Given the description of an element on the screen output the (x, y) to click on. 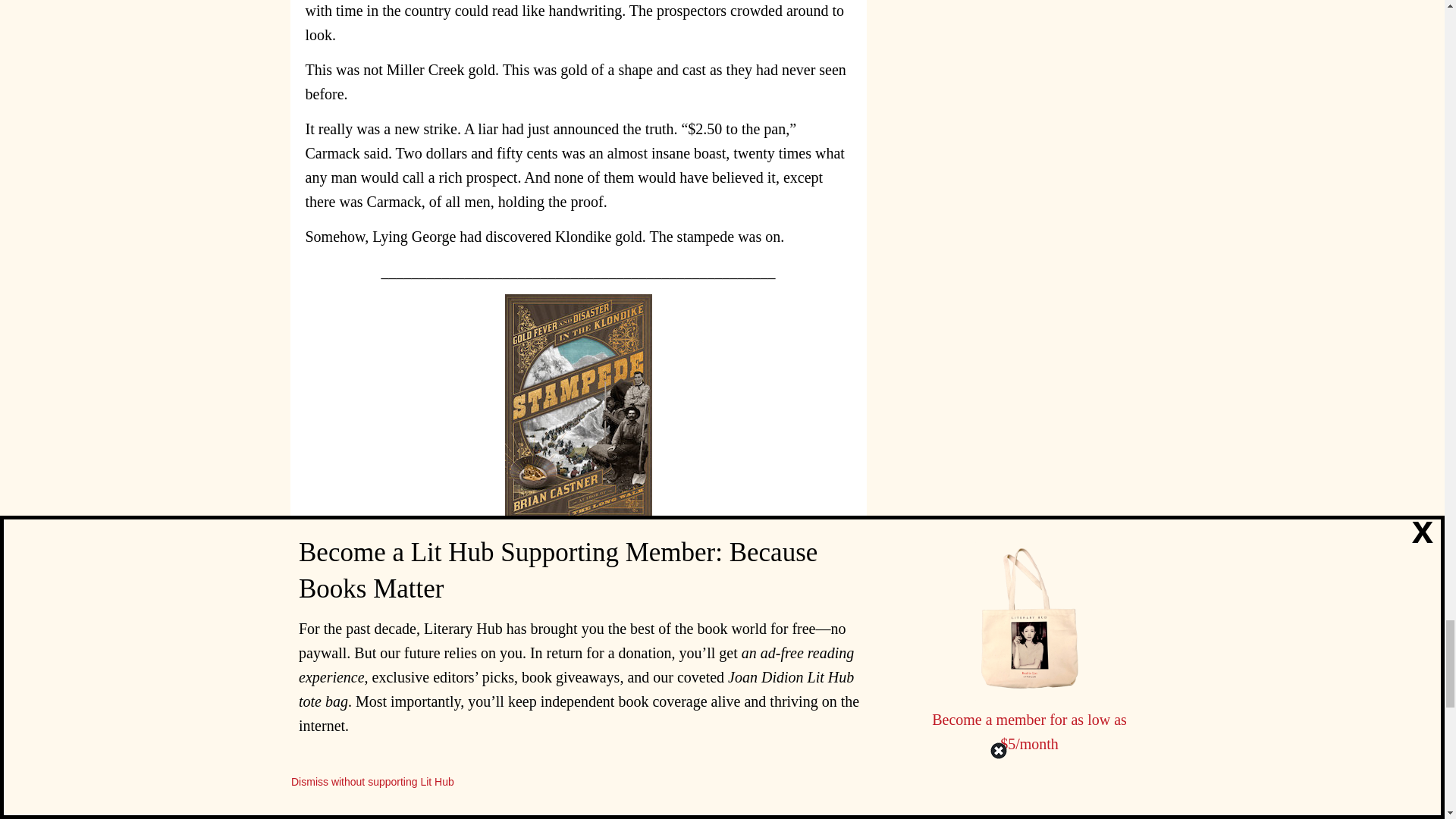
Share on Facebook (712, 760)
Click to share on Twitter (742, 760)
